Given the description of an element on the screen output the (x, y) to click on. 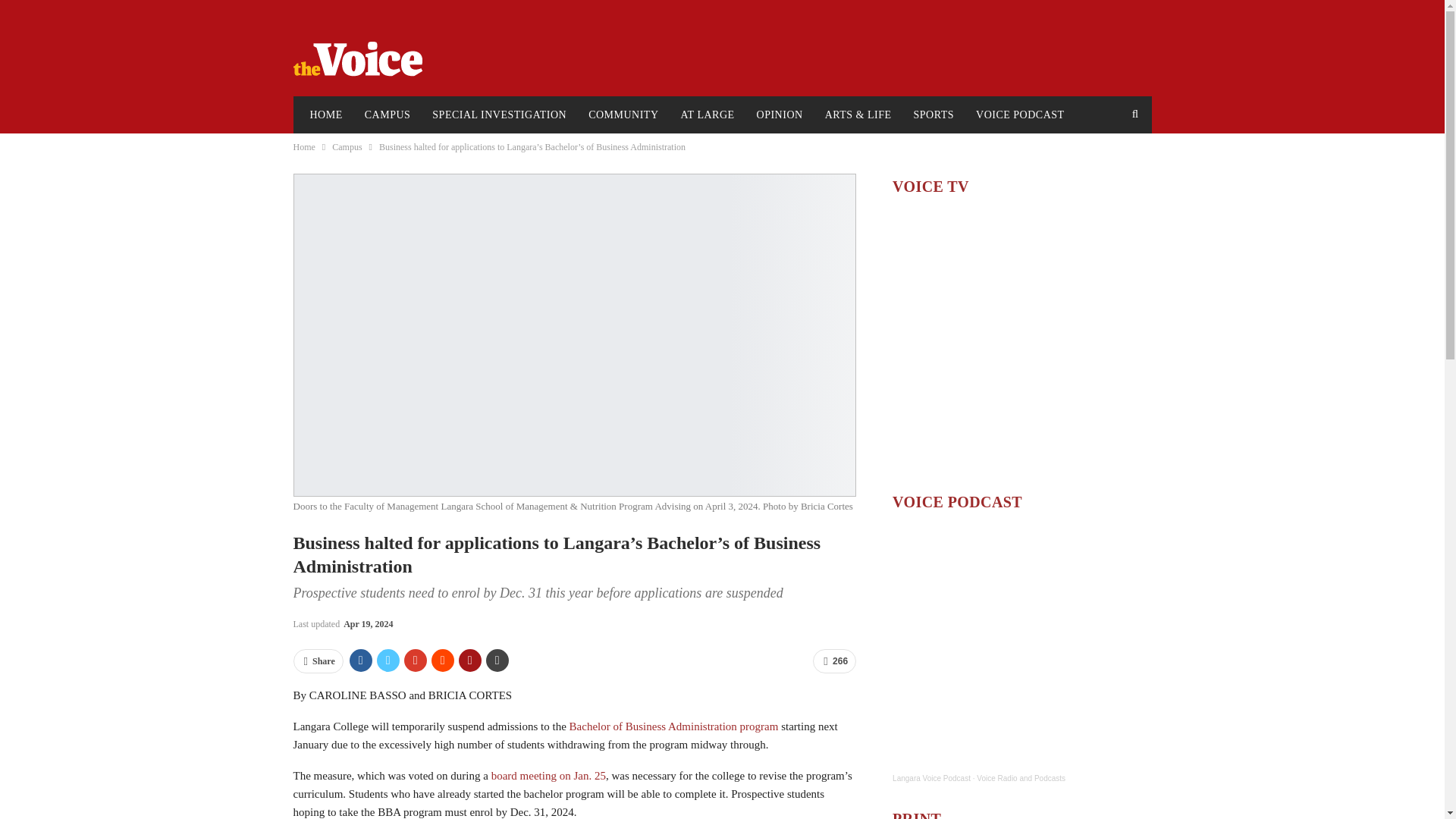
AT LARGE (707, 115)
SPECIAL INVESTIGATION (499, 115)
Campus (346, 146)
OPINION (780, 115)
CAMPUS (387, 115)
Voice Radio and Podcasts (1020, 777)
board meeting on Jan. 25 (548, 775)
Langara Voice Podcast (931, 777)
YouTube video player (1021, 342)
SPORTS (933, 115)
